Given the description of an element on the screen output the (x, y) to click on. 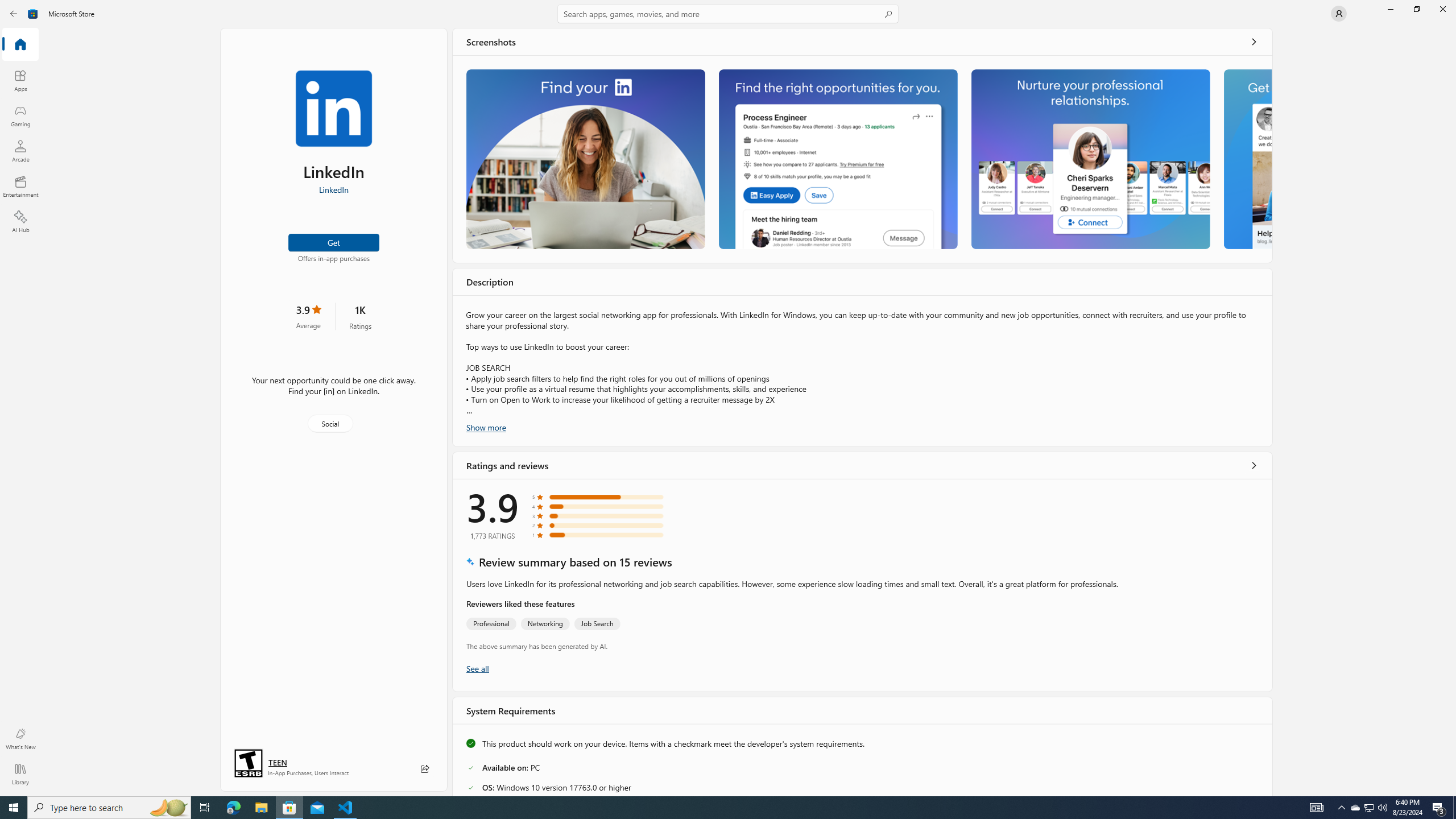
3.9 stars. Click to skip to ratings and reviews (307, 315)
Show all ratings and reviews (1253, 465)
Screenshot 2 (836, 158)
Screenshot 3 (1089, 158)
